Given the description of an element on the screen output the (x, y) to click on. 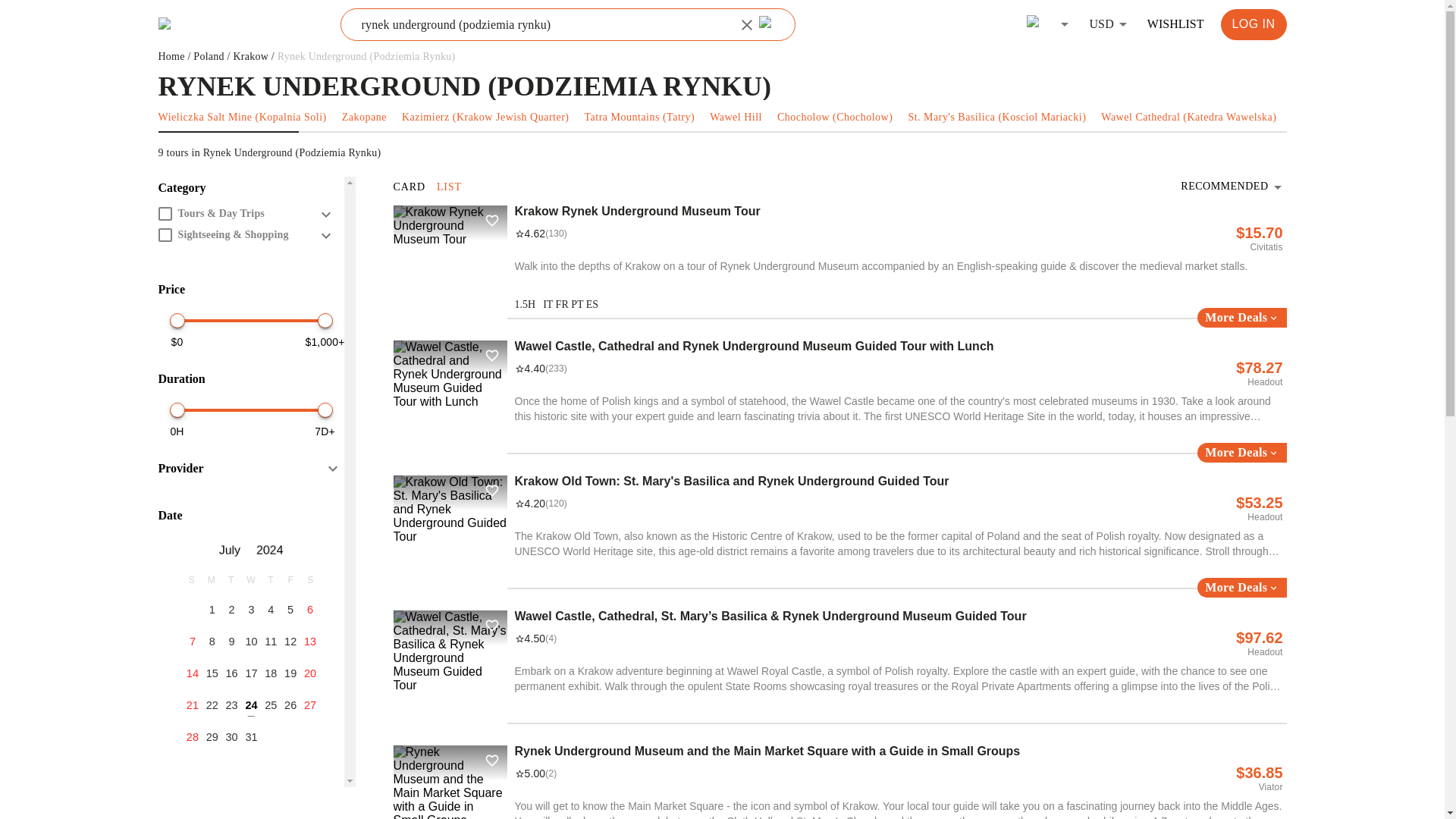
Thursday (270, 579)
16 (324, 320)
Monday (211, 579)
WISHLIST (1175, 24)
0 (176, 409)
Friday (290, 579)
Wawel Hill (743, 116)
0 (176, 320)
Zakopane (371, 116)
LOG IN (1254, 24)
Tuesday (231, 579)
15 (324, 409)
Wednesday (250, 579)
Sunday (192, 579)
Saturday (309, 579)
